Given the description of an element on the screen output the (x, y) to click on. 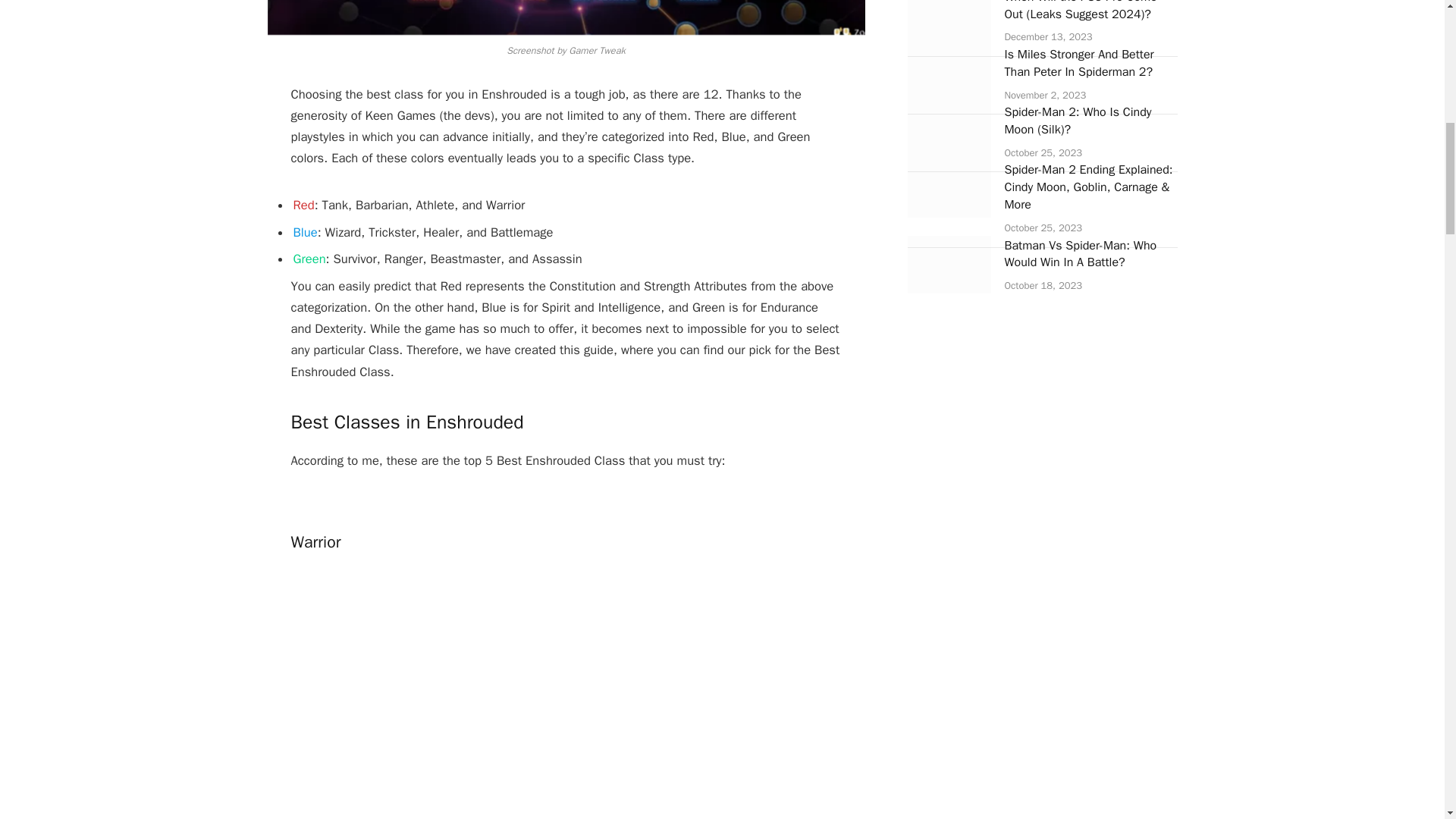
Enshrouded Best Classes Guide (565, 17)
